Given the description of an element on the screen output the (x, y) to click on. 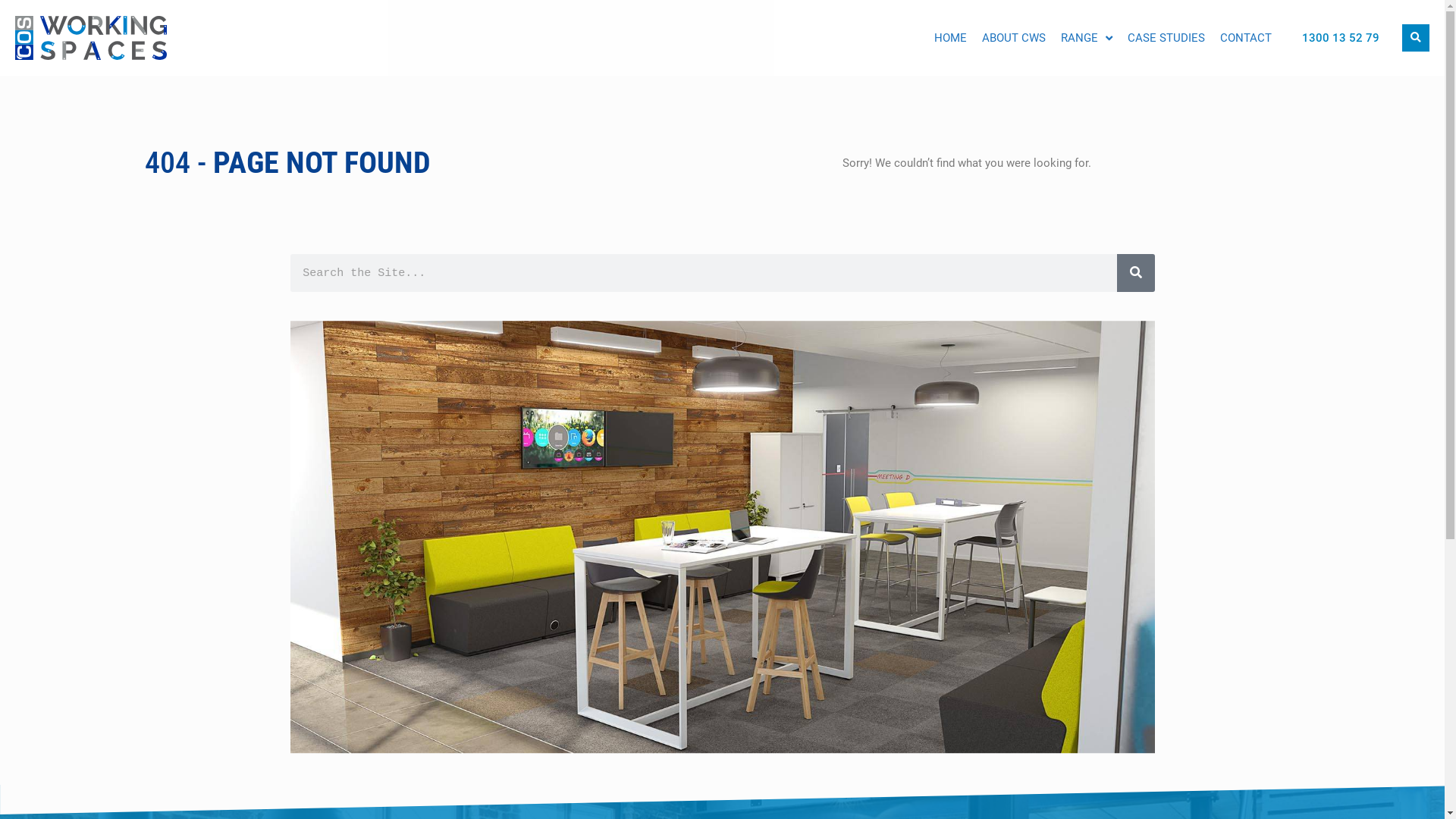
RANGE Element type: text (1086, 37)
1300 13 52 79 Element type: text (1340, 37)
CASE STUDIES Element type: text (1166, 37)
ABOUT CWS Element type: text (1013, 37)
HOME Element type: text (950, 37)
CONTACT Element type: text (1245, 37)
